Given the description of an element on the screen output the (x, y) to click on. 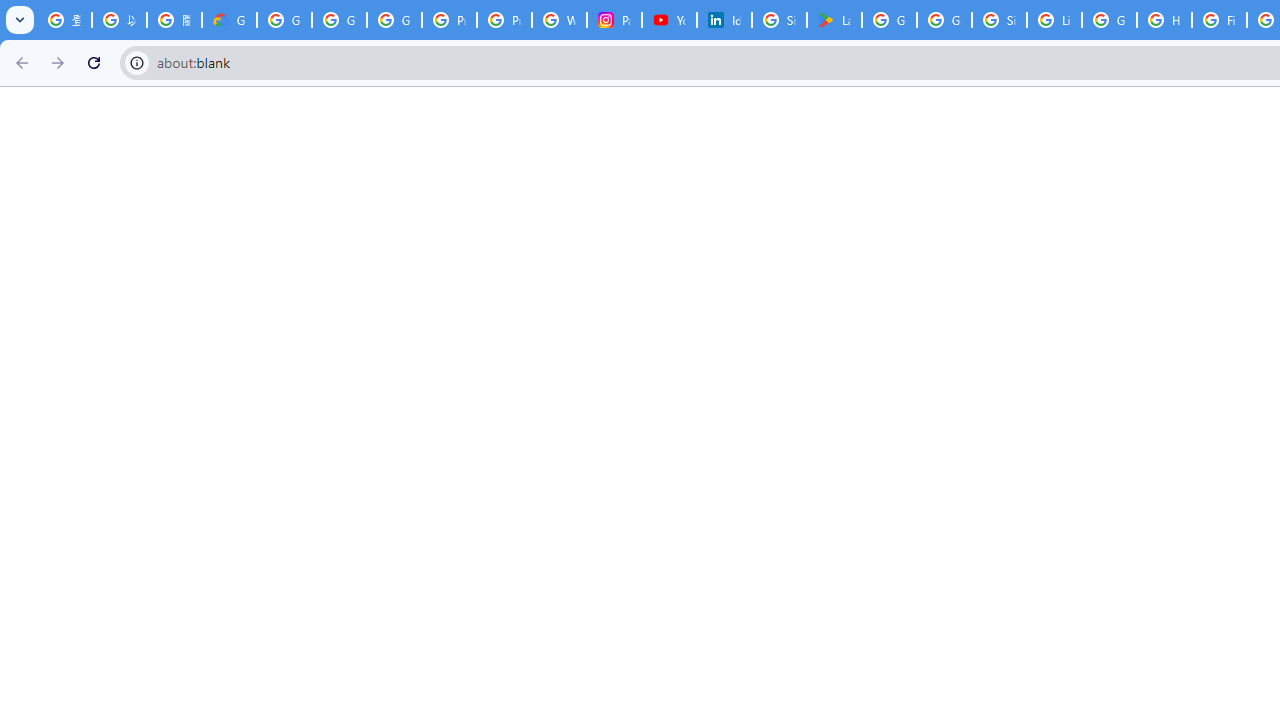
YouTube Culture & Trends - On The Rise: Handcam Videos (669, 20)
Sign in - Google Accounts (998, 20)
Last Shelter: Survival - Apps on Google Play (833, 20)
How do I create a new Google Account? - Google Account Help (1163, 20)
Sign in - Google Accounts (779, 20)
